Given the description of an element on the screen output the (x, y) to click on. 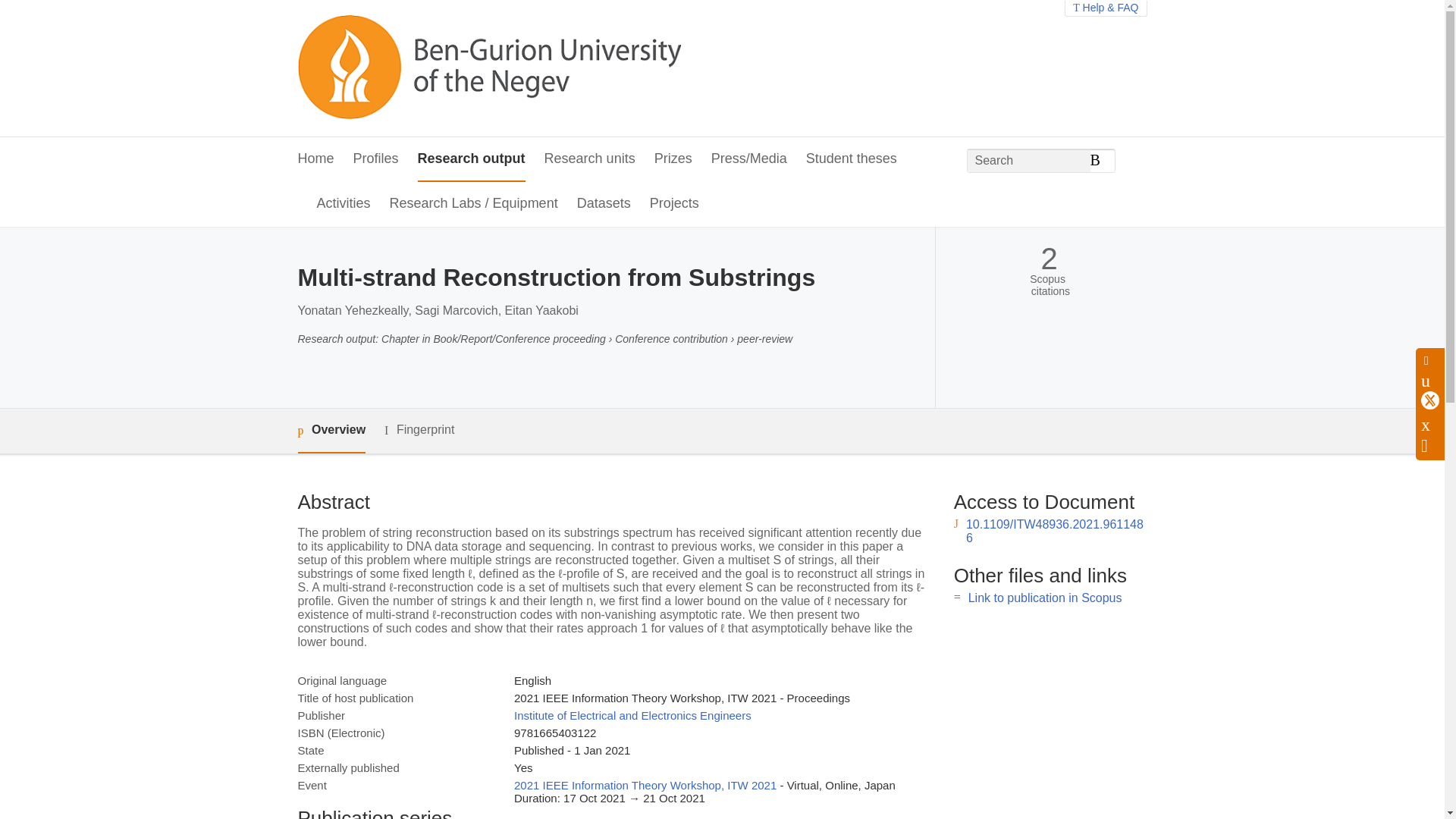
Activities (344, 203)
Projects (673, 203)
Ben-Gurion University Research Portal Home (489, 68)
Research output (471, 159)
Fingerprint (419, 430)
Profiles (375, 159)
Link to publication in Scopus (1045, 597)
Institute of Electrical and Electronics Engineers (632, 715)
Student theses (851, 159)
